Given the description of an element on the screen output the (x, y) to click on. 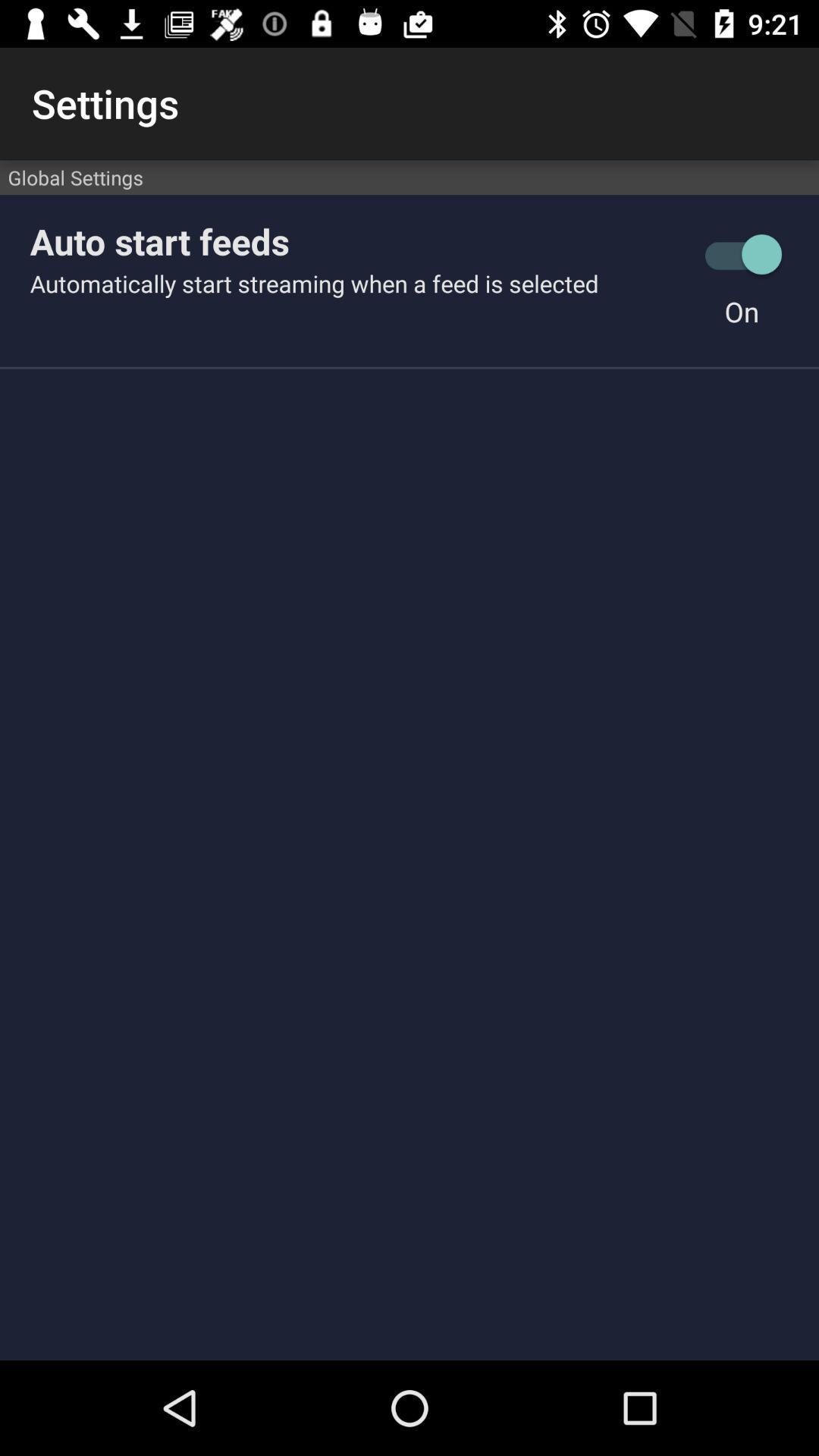
select icon below the auto start feeds icon (357, 283)
